Given the description of an element on the screen output the (x, y) to click on. 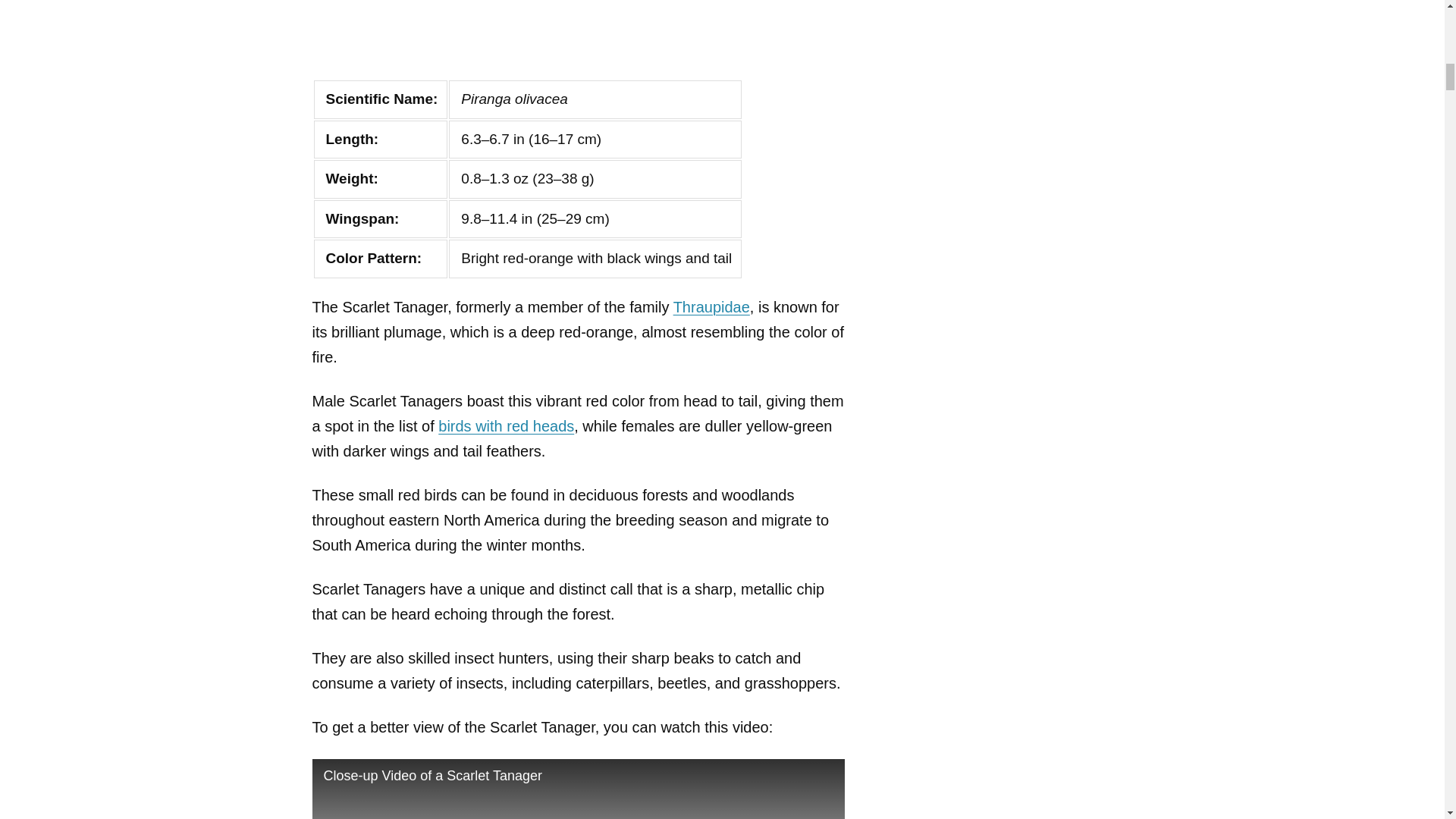
Thraupidae (710, 306)
Close-up Video of a Scarlet Tanager (578, 789)
